Given the description of an element on the screen output the (x, y) to click on. 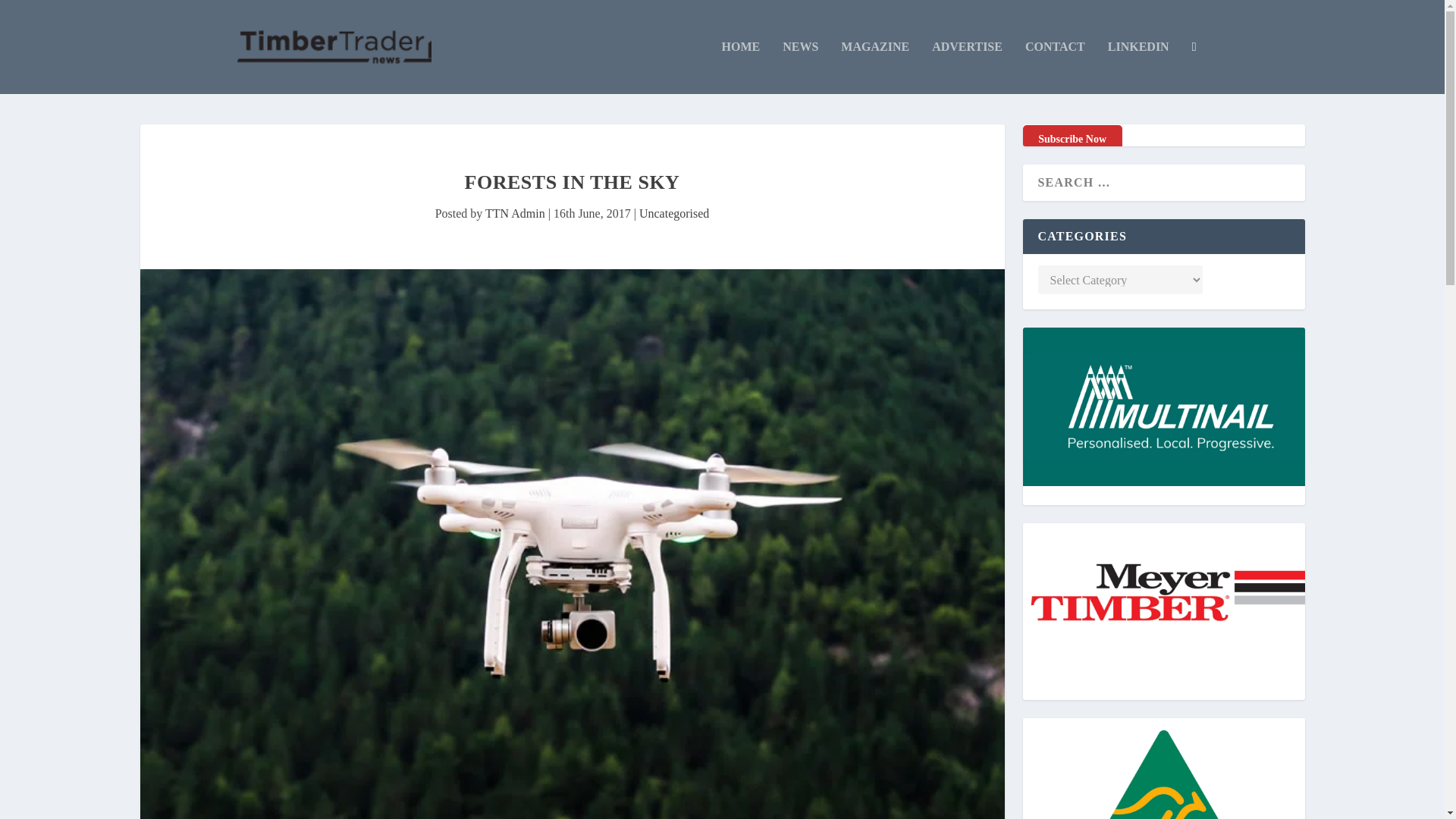
ADVERTISE (967, 67)
Subscribe Now (1071, 139)
LINKEDIN (1138, 67)
TTN Admin (514, 213)
Posts by TTN Admin (514, 213)
Uncategorised (674, 213)
MAGAZINE (874, 67)
CONTACT (1054, 67)
Search (34, 14)
